Given the description of an element on the screen output the (x, y) to click on. 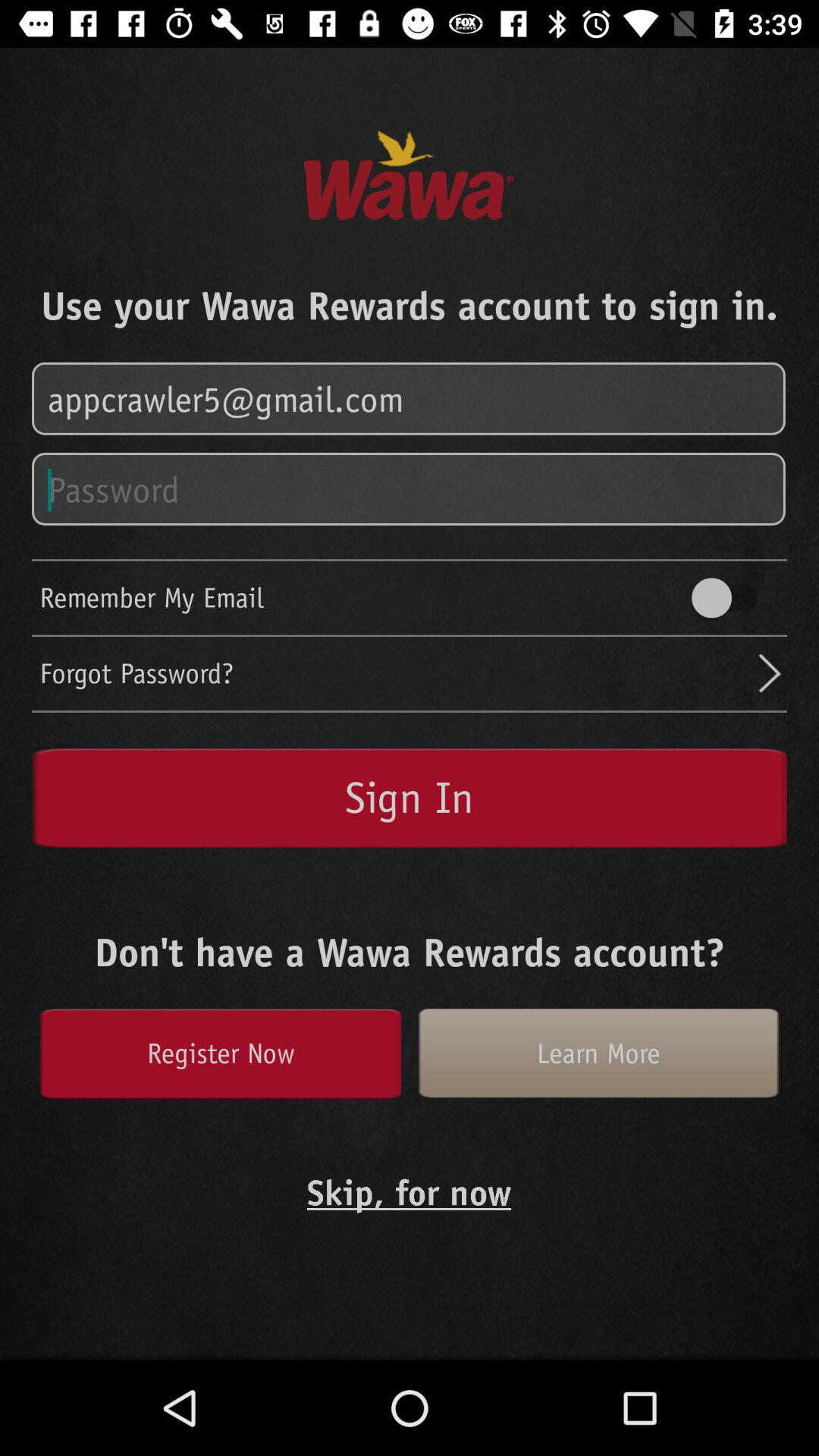
choose the icon below use your wawa (409, 399)
